Given the description of an element on the screen output the (x, y) to click on. 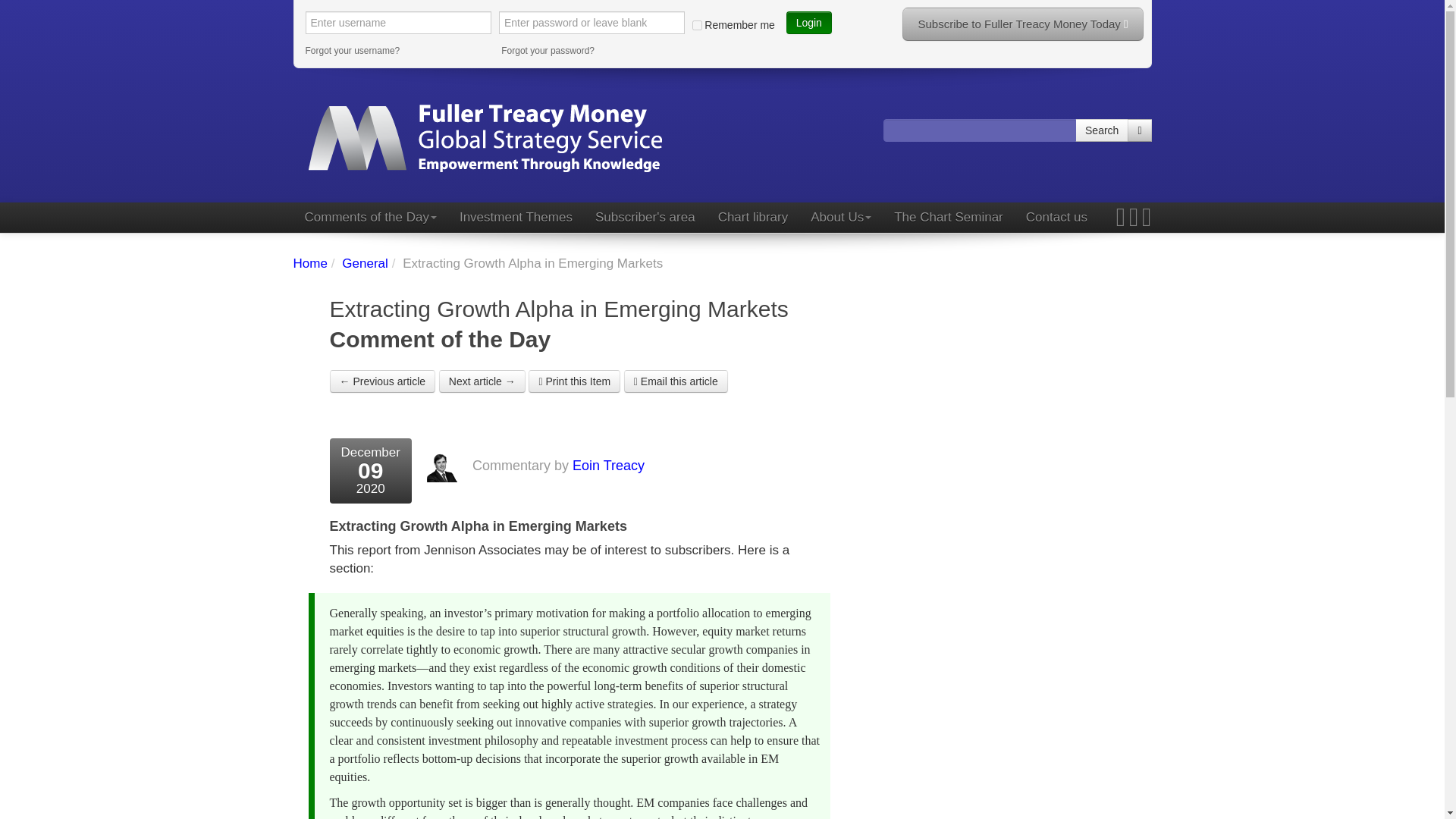
General (364, 263)
About Us (840, 217)
Search (1101, 129)
Home (309, 263)
Comments of the Day (369, 217)
Chart library (752, 217)
Contact us (1056, 217)
Print this Item (574, 381)
Investment Themes (515, 217)
The Chart Seminar (948, 217)
